Given the description of an element on the screen output the (x, y) to click on. 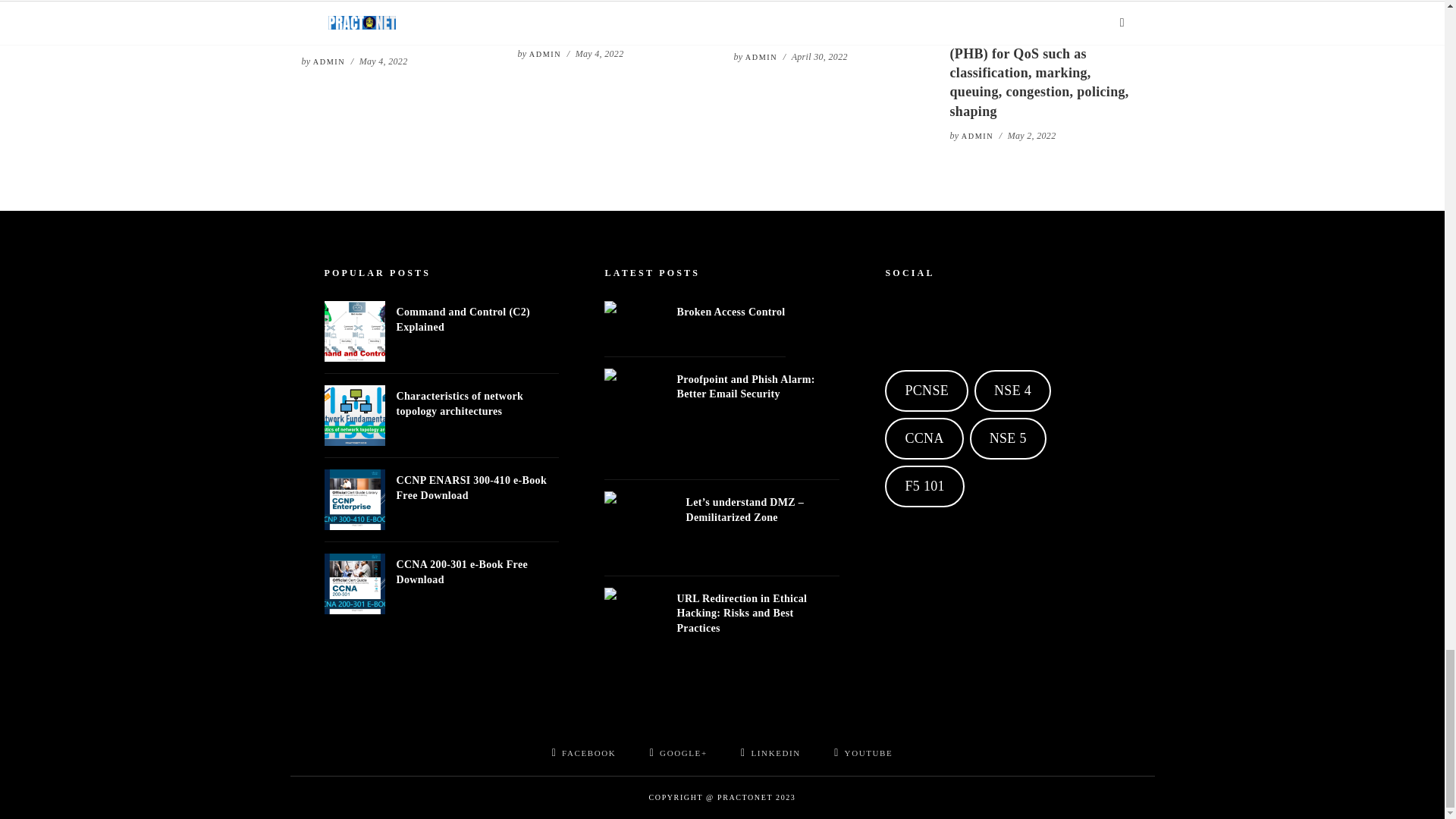
Compare IPv6 address types (830, 6)
Active Directory (613, 4)
